Given the description of an element on the screen output the (x, y) to click on. 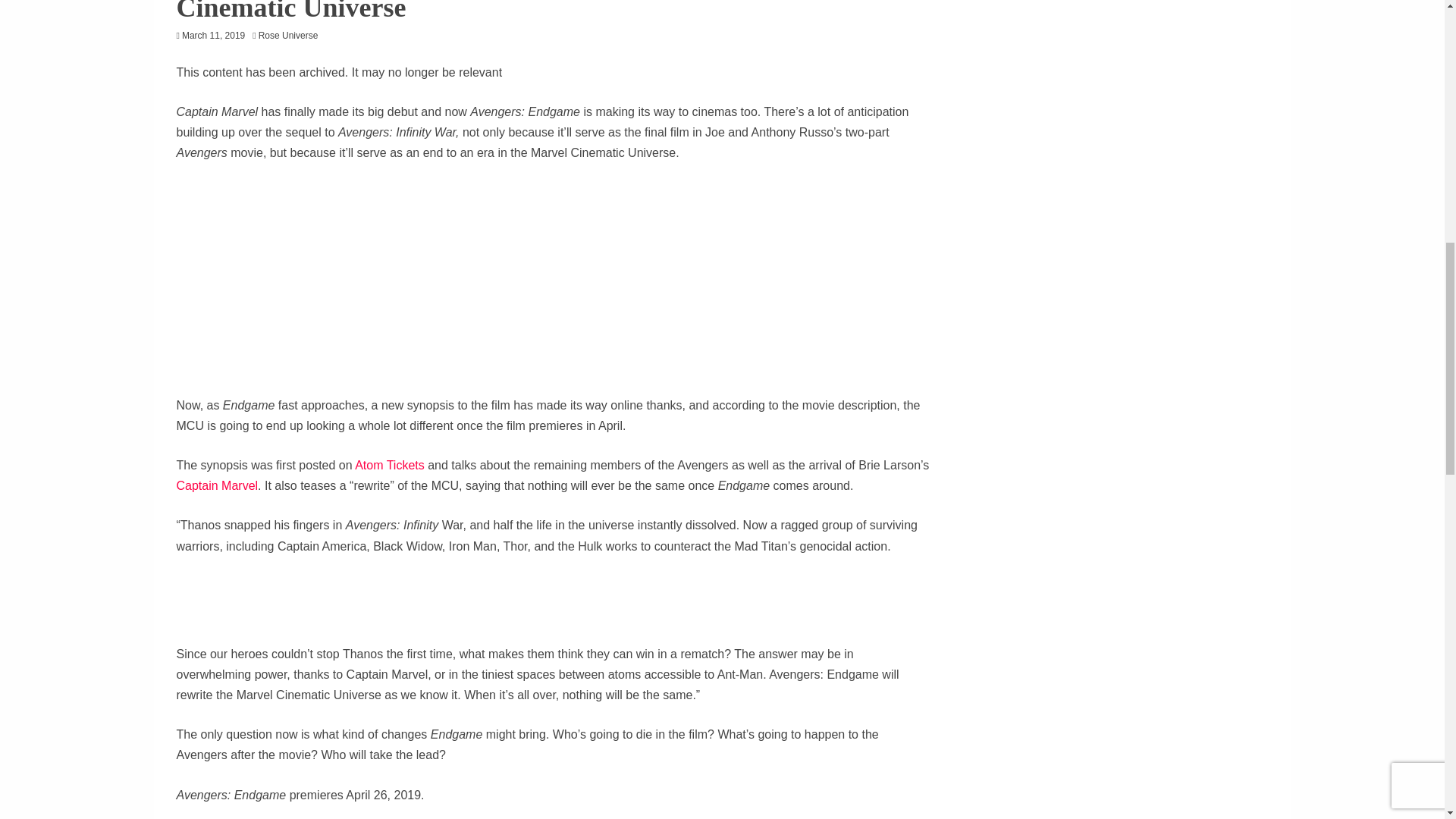
Atom Tickets (390, 464)
March 11, 2019 (213, 35)
Rose Universe (292, 35)
Advertisement (552, 609)
Captain Marvel (216, 485)
